Given the description of an element on the screen output the (x, y) to click on. 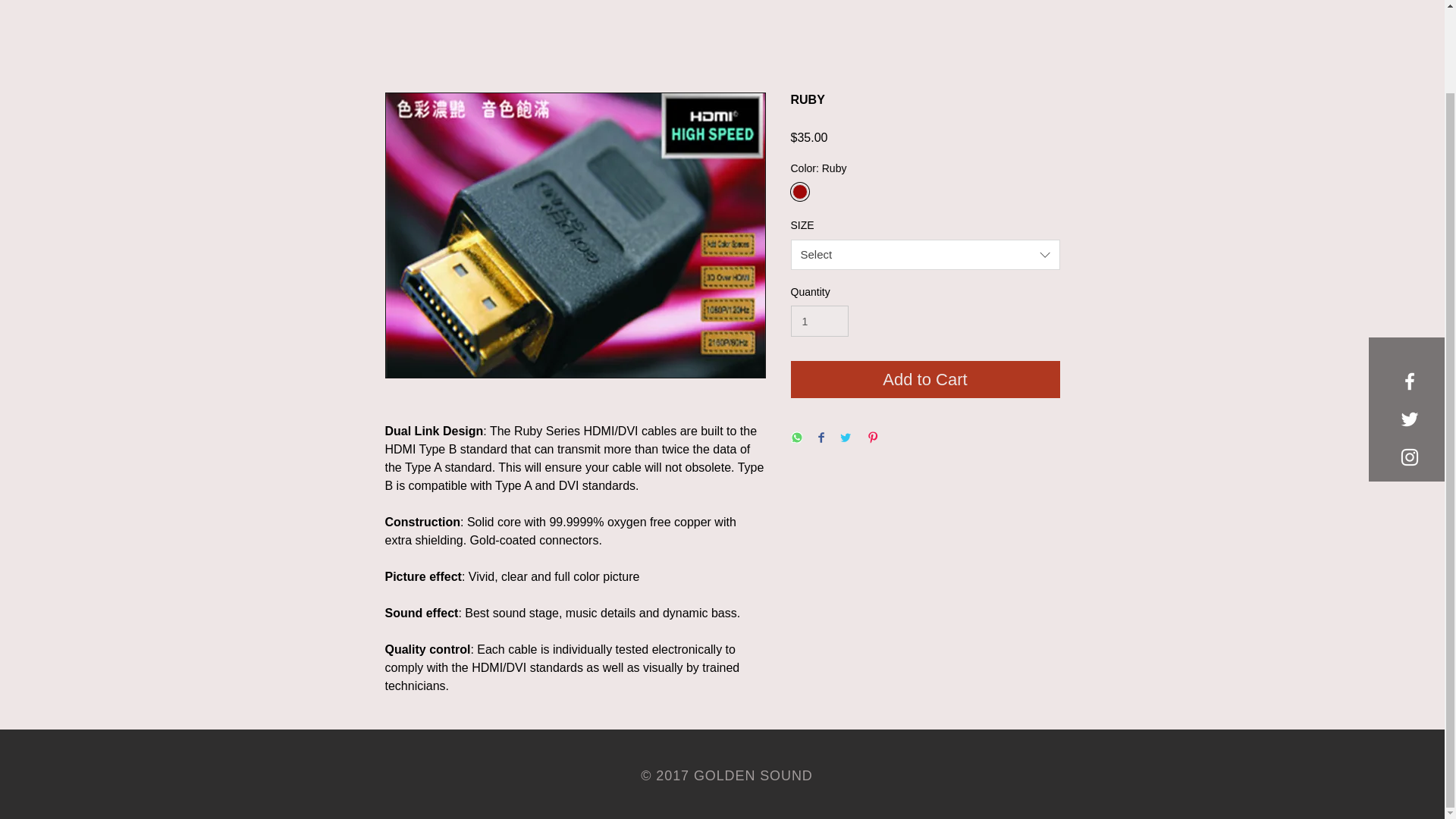
1 (818, 320)
Add to Cart (924, 379)
Select (924, 254)
